Given the description of an element on the screen output the (x, y) to click on. 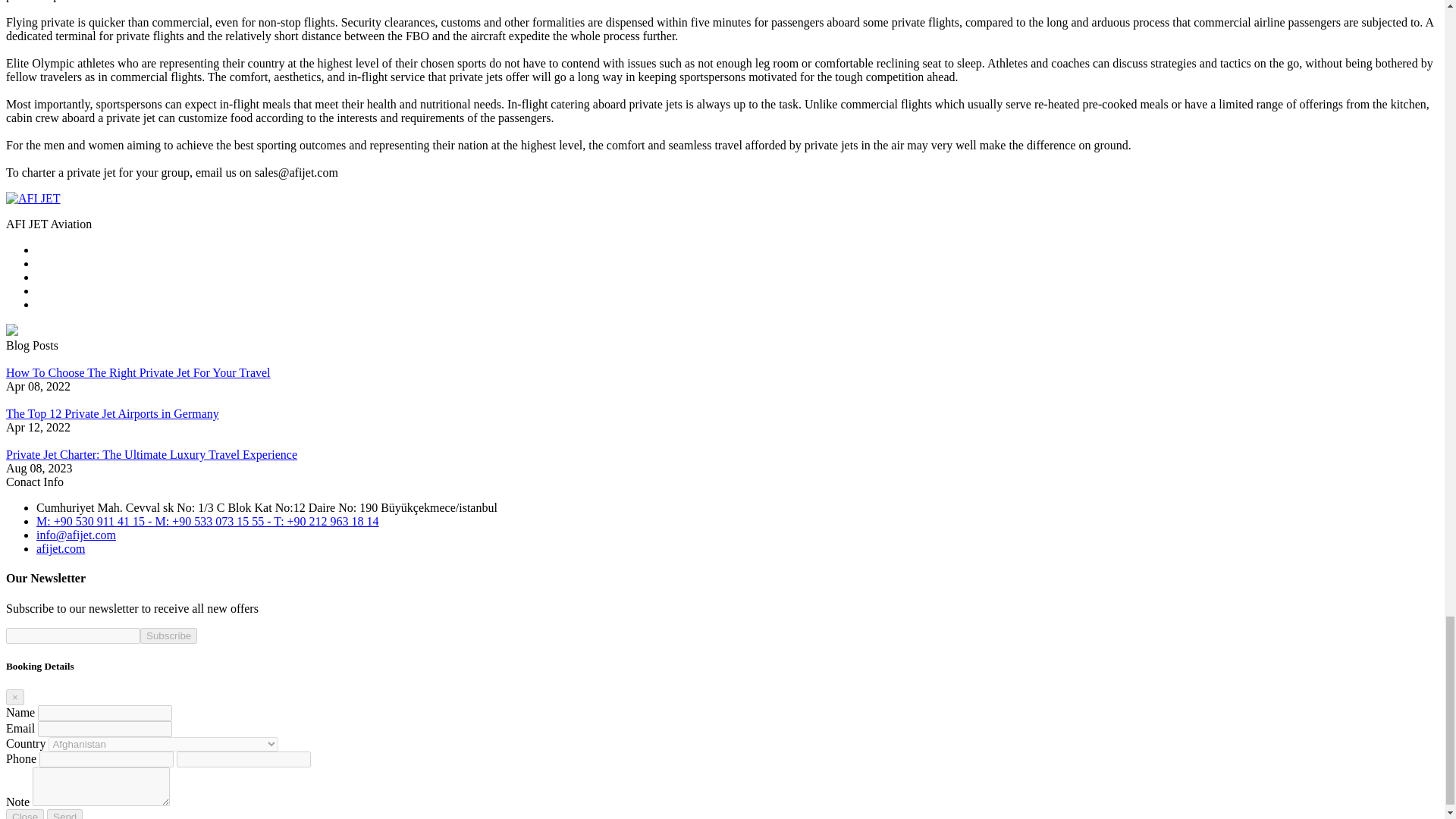
Select Country (163, 744)
